Given the description of an element on the screen output the (x, y) to click on. 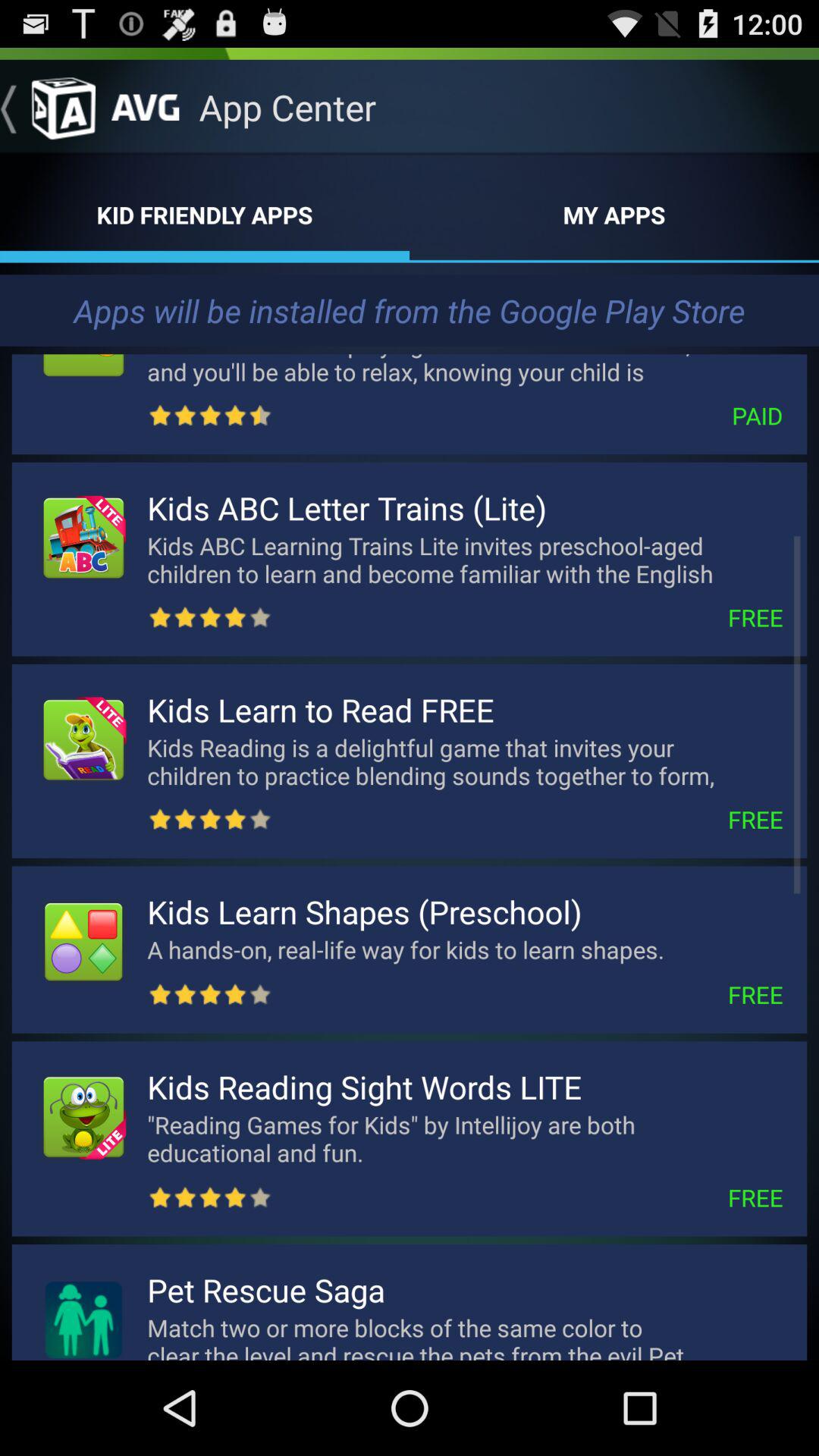
scroll until a hands on icon (437, 949)
